Given the description of an element on the screen output the (x, y) to click on. 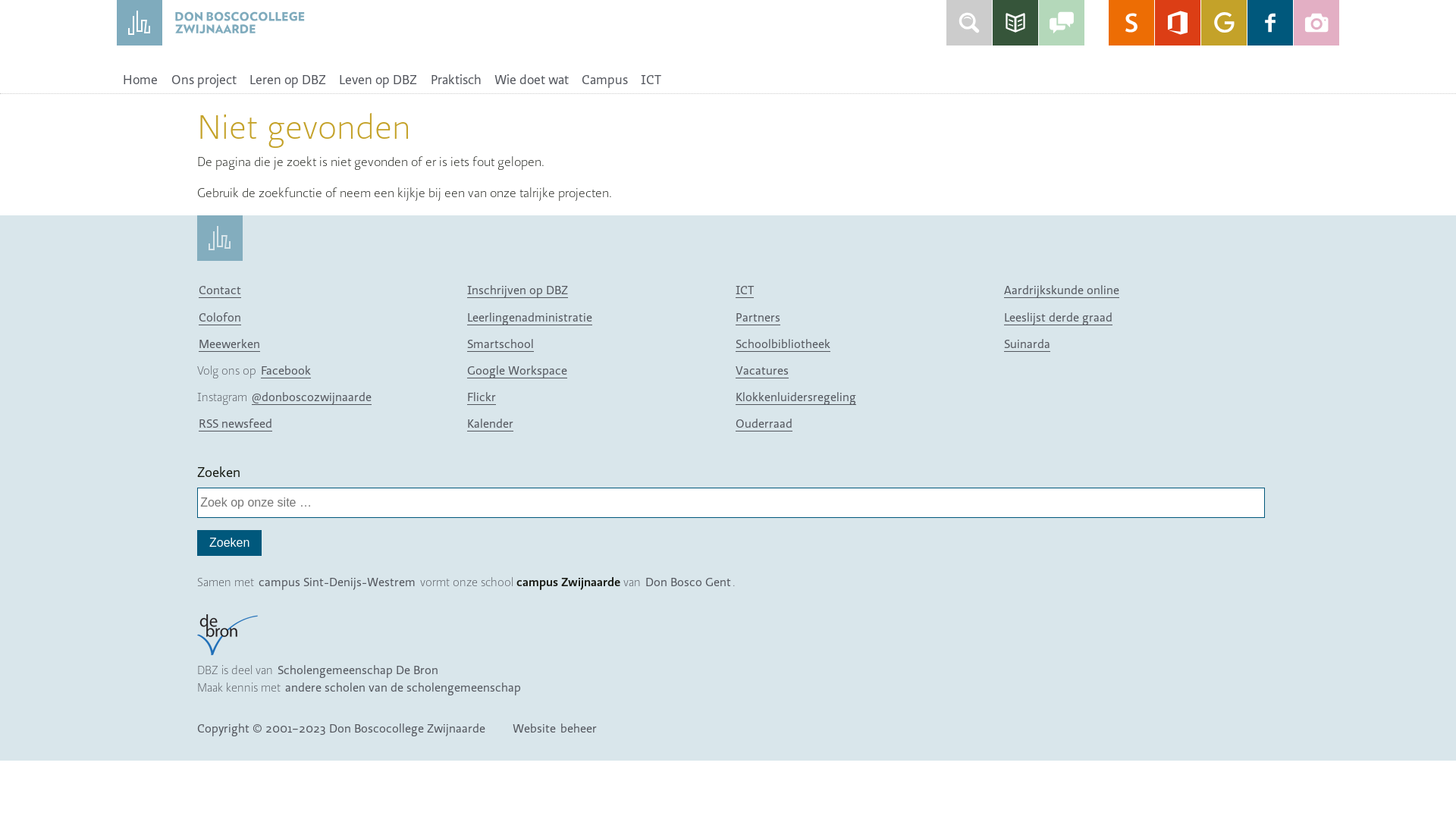
ICT Element type: text (744, 290)
Kalender Element type: text (490, 423)
Google Workspace Element type: text (517, 370)
Leven op DBZ Element type: text (377, 79)
Campus Element type: text (603, 79)
Praktisch Element type: text (455, 79)
Leren op DBZ Element type: text (287, 79)
Contact Element type: text (219, 290)
Ons project Element type: text (203, 79)
@donboscozwijnaarde Element type: text (311, 396)
beheer Element type: text (578, 727)
Inschrijven op DBZ Element type: text (517, 290)
Suinarda Element type: text (1027, 343)
Zoeken Element type: text (229, 542)
Facebook Element type: text (285, 370)
RSS newsfeed Element type: text (235, 423)
Partners Element type: text (757, 317)
ICT Element type: text (651, 79)
Ouderraad Element type: text (763, 423)
andere scholen van de scholengemeenschap Element type: text (402, 686)
Scholengemeenschap De Bron Element type: text (357, 669)
Colofon Element type: text (219, 317)
Home Element type: text (140, 79)
Meewerken Element type: text (229, 343)
Vacatures Element type: text (761, 370)
Schoolbibliotheek Element type: text (782, 343)
Leeslijst derde graad Element type: text (1058, 317)
Aardrijkskunde online Element type: text (1061, 290)
Wie doet wat Element type: text (530, 79)
Flickr Element type: text (481, 396)
Klokkenluidersregeling Element type: text (795, 396)
Don Bosco Gent Element type: text (688, 581)
campus Sint-Denijs-Westrem Element type: text (336, 581)
Smartschool Element type: text (500, 343)
